Given the description of an element on the screen output the (x, y) to click on. 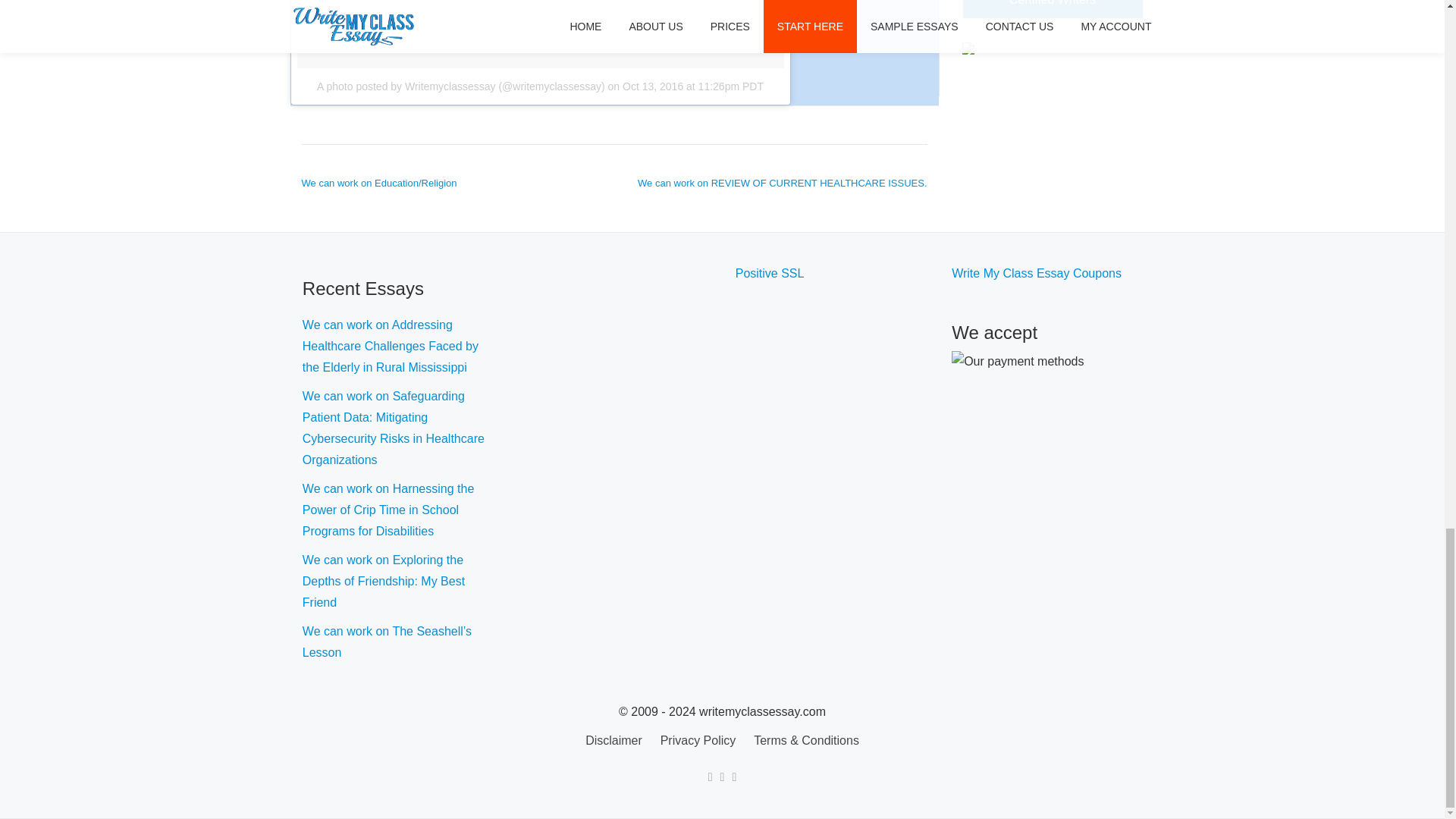
Disclaimer (613, 739)
Privacy Policy (698, 739)
Write My Class Essay Coupons (1036, 273)
Positive SSL (770, 273)
We can work on REVIEW OF CURRENT HEALTHCARE ISSUES. (781, 183)
 View Client Testimonials (967, 47)
